Given the description of an element on the screen output the (x, y) to click on. 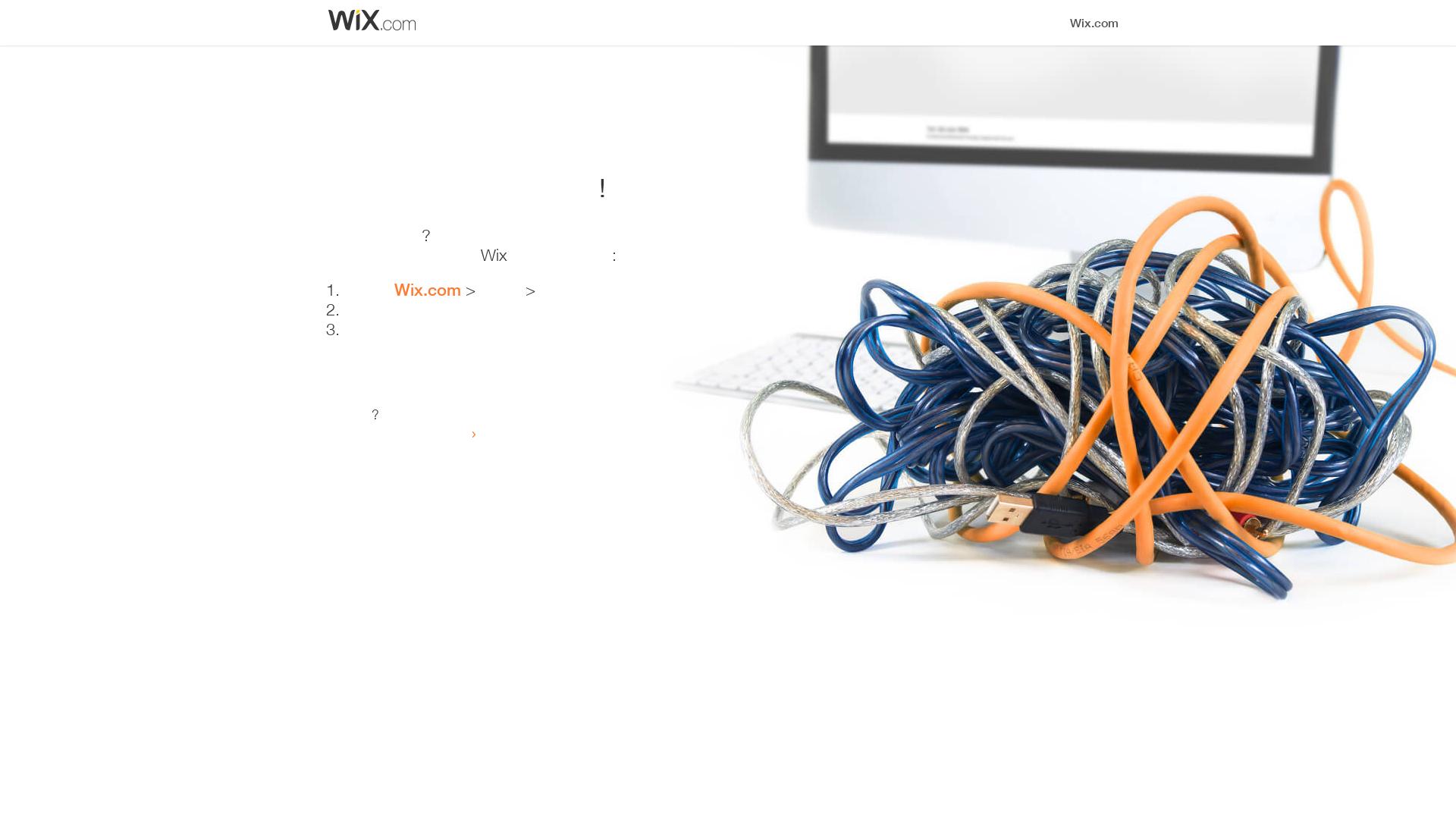
Wix.com Element type: text (429, 289)
